Given the description of an element on the screen output the (x, y) to click on. 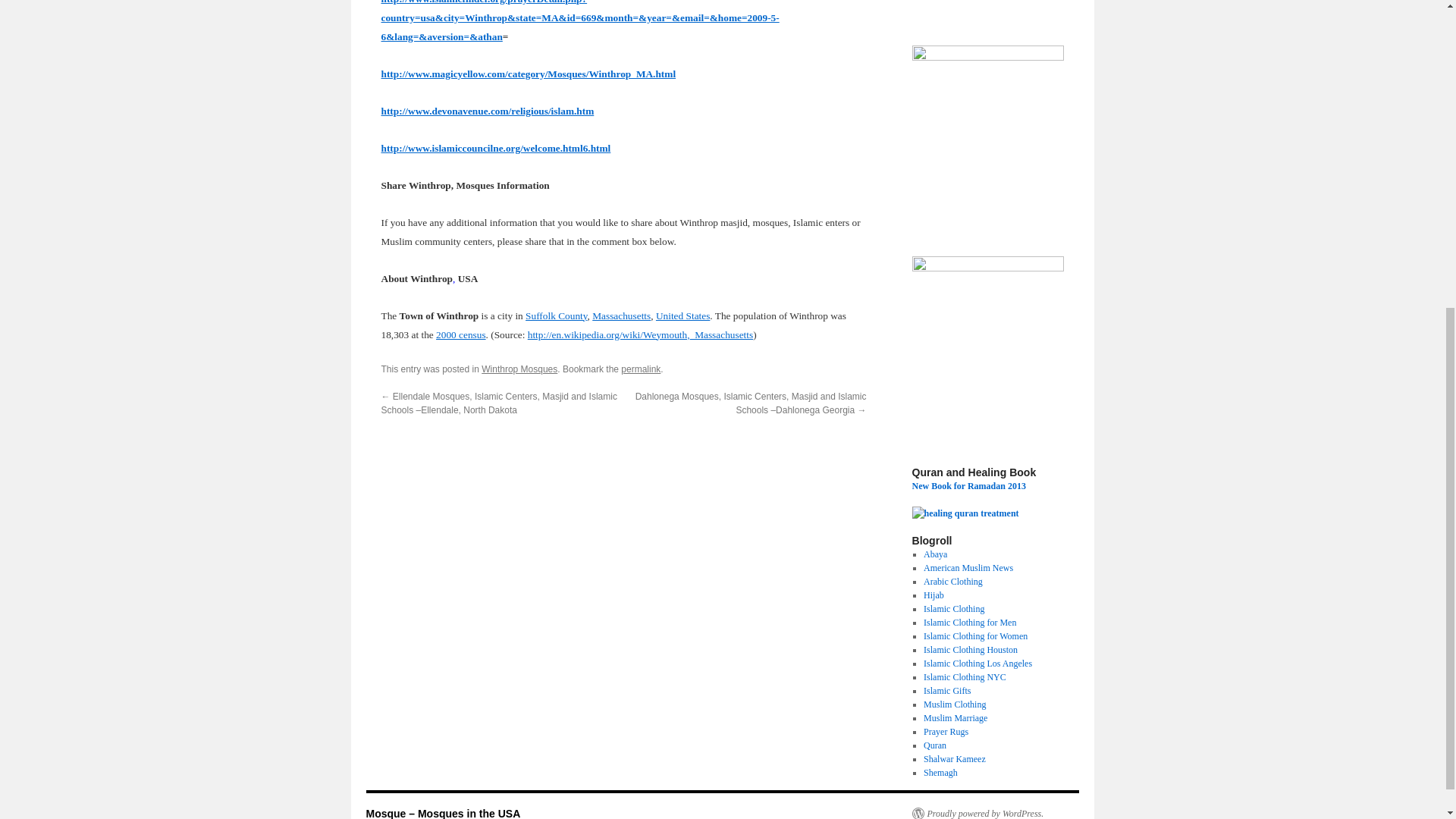
Islamic Clothing NYC (964, 676)
Suffolk County (555, 315)
American Muslim News (968, 567)
Abaya (935, 553)
Suffolk County, Massachusetts (555, 315)
Massachusetts (621, 315)
Islamic Clothing (953, 608)
2000 United States Census (460, 334)
Islamic Clothing for Men (969, 622)
Islamic Clothing Houston (970, 649)
Muslim Clothing (954, 704)
Hijab (933, 594)
United States (683, 315)
Islamic Clothing (953, 608)
Islamic Clothing Los Angeles (977, 663)
